Given the description of an element on the screen output the (x, y) to click on. 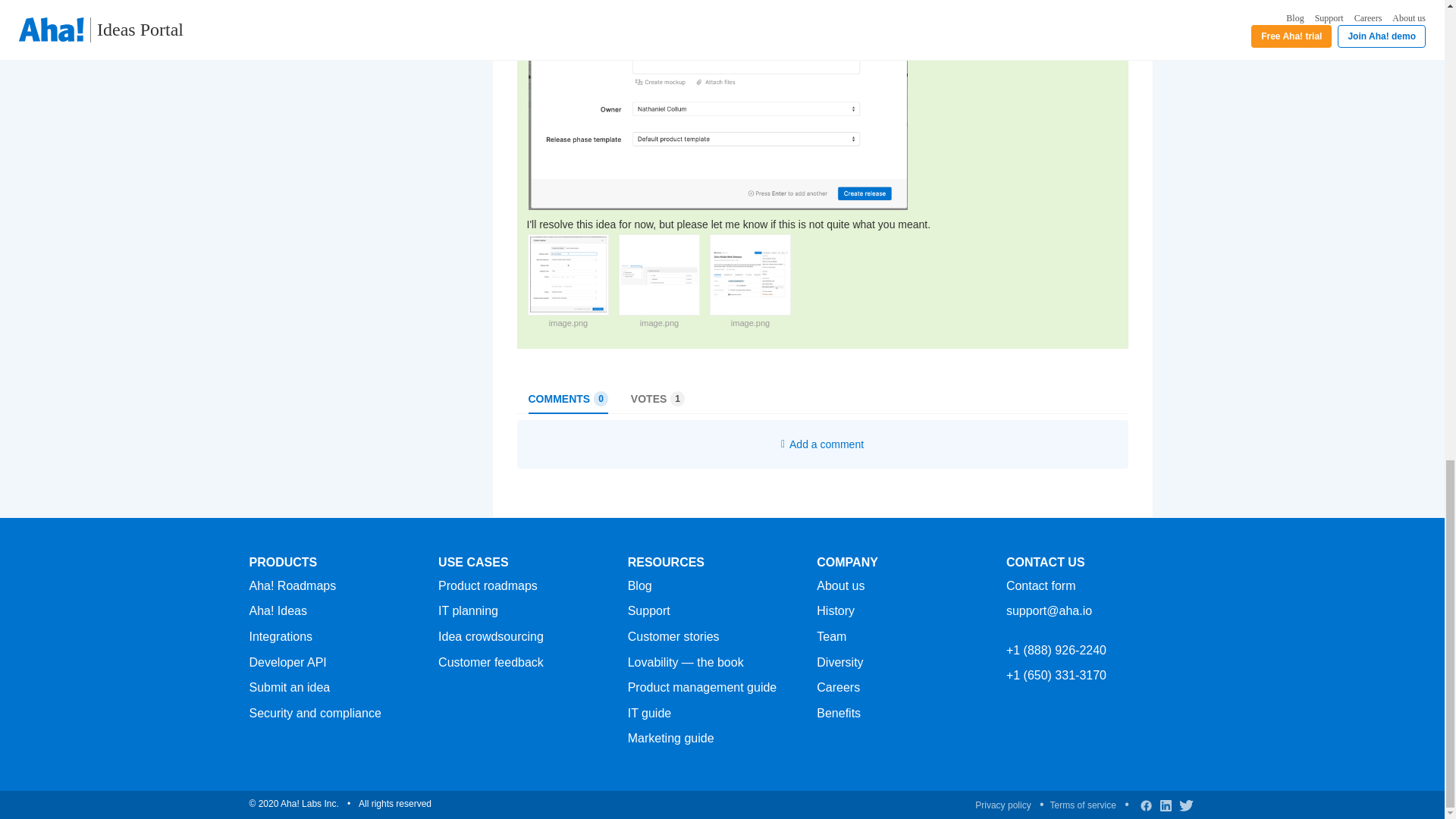
image.png (568, 321)
image.png (750, 321)
image.png (659, 321)
